Given the description of an element on the screen output the (x, y) to click on. 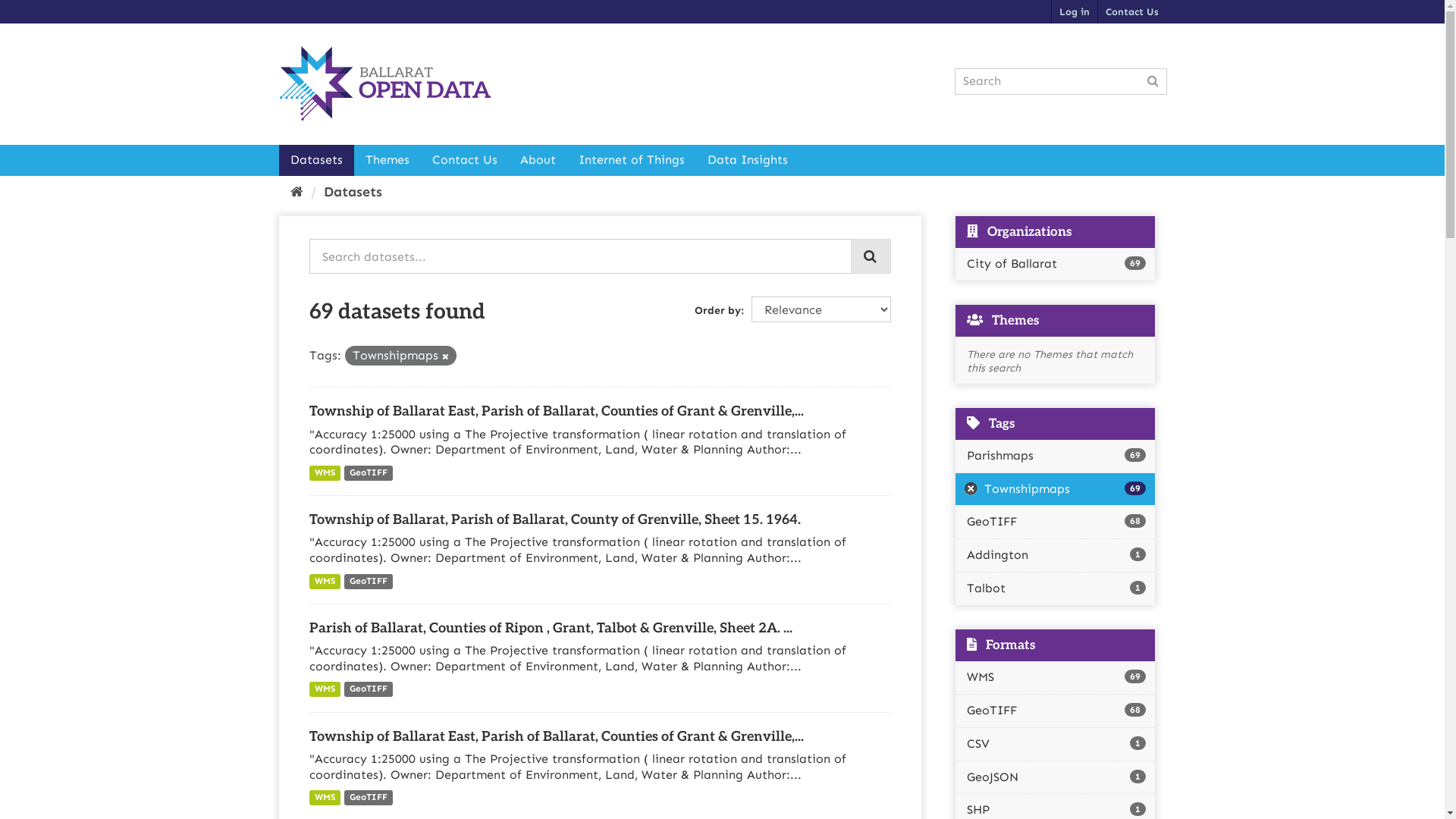
Ballarat Open Data Element type: hover (385, 83)
GeoTIFF Element type: text (368, 581)
Themes Element type: text (386, 159)
GeoTIFF Element type: text (368, 472)
WMS
69 Element type: text (1054, 677)
GeoTIFF Element type: text (368, 688)
Datasets Element type: text (352, 191)
Log in Element type: text (1073, 11)
WMS Element type: text (324, 688)
CSV
1 Element type: text (1054, 744)
GeoTIFF
68 Element type: text (1054, 521)
City of Ballarat
69 Element type: text (1054, 263)
WMS Element type: text (324, 581)
WMS Element type: text (324, 472)
Townshipmaps
69 Element type: text (1054, 489)
GeoTIFF Element type: text (368, 797)
Internet of Things Element type: text (631, 159)
Remove Element type: hover (444, 356)
Contact Us Element type: text (464, 159)
Parishmaps
69 Element type: text (1054, 455)
WMS Element type: text (324, 797)
search Element type: text (870, 255)
GeoTIFF
68 Element type: text (1054, 710)
Addington
1 Element type: text (1054, 555)
About Element type: text (537, 159)
Contact Us Element type: text (1132, 11)
Talbot
1 Element type: text (1054, 588)
GeoJSON
1 Element type: text (1054, 777)
Datasets Element type: text (316, 159)
Data Insights Element type: text (747, 159)
